Given the description of an element on the screen output the (x, y) to click on. 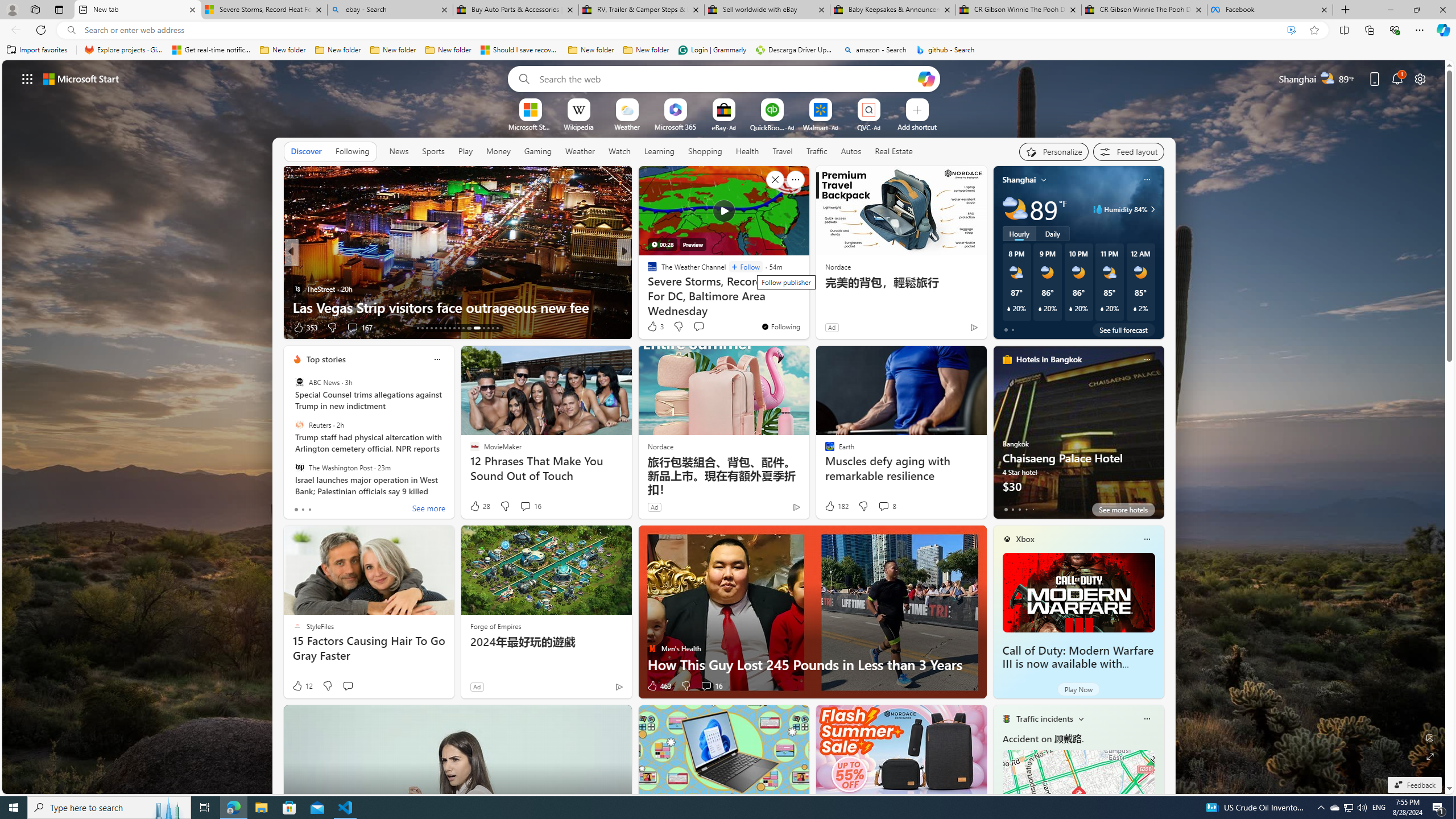
Money (497, 151)
Feedback (1414, 784)
Should I save recovered Word documents? - Microsoft Support (519, 49)
Forge of Empires (495, 625)
Learning (659, 151)
Start the conversation (347, 685)
App launcher (27, 78)
AutomationID: tab-23 (462, 328)
